Given the description of an element on the screen output the (x, y) to click on. 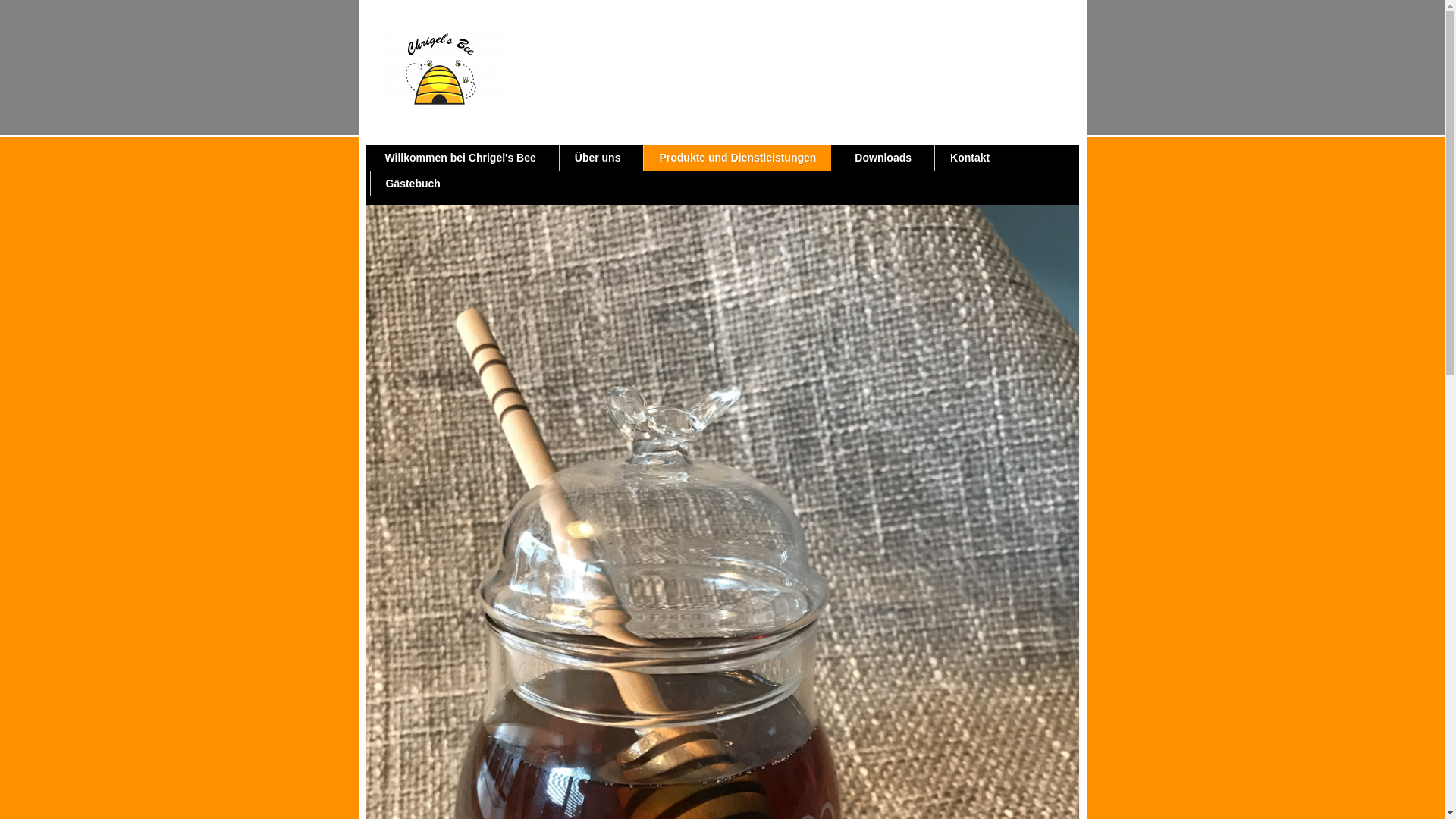
Downloads Element type: text (882, 157)
Produkte und Dienstleistungen Element type: text (737, 157)
Willkommen bei Chrigel's Bee Element type: text (460, 157)
Kontakt Element type: text (969, 157)
